Given the description of an element on the screen output the (x, y) to click on. 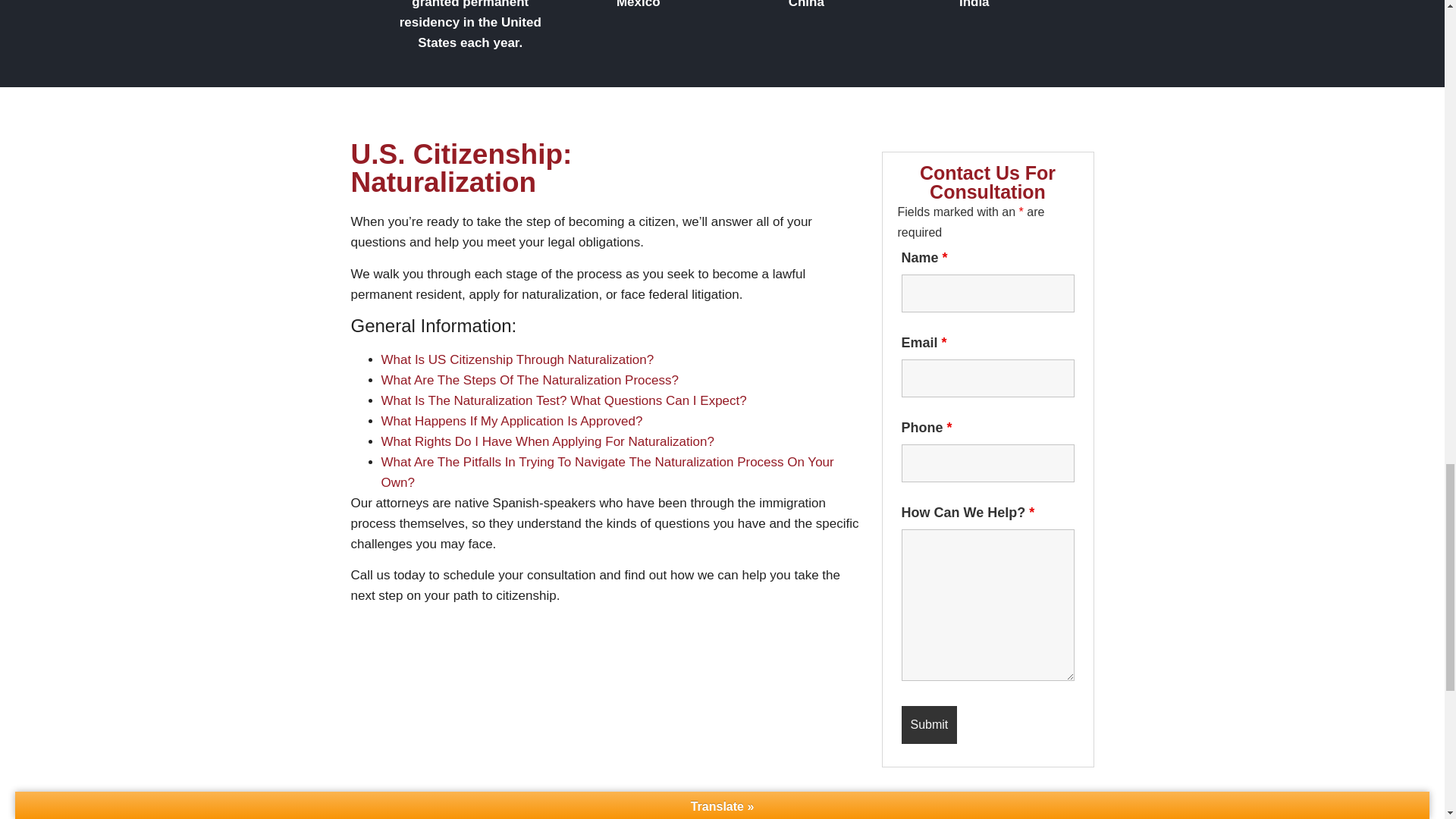
Submit (928, 724)
